Given the description of an element on the screen output the (x, y) to click on. 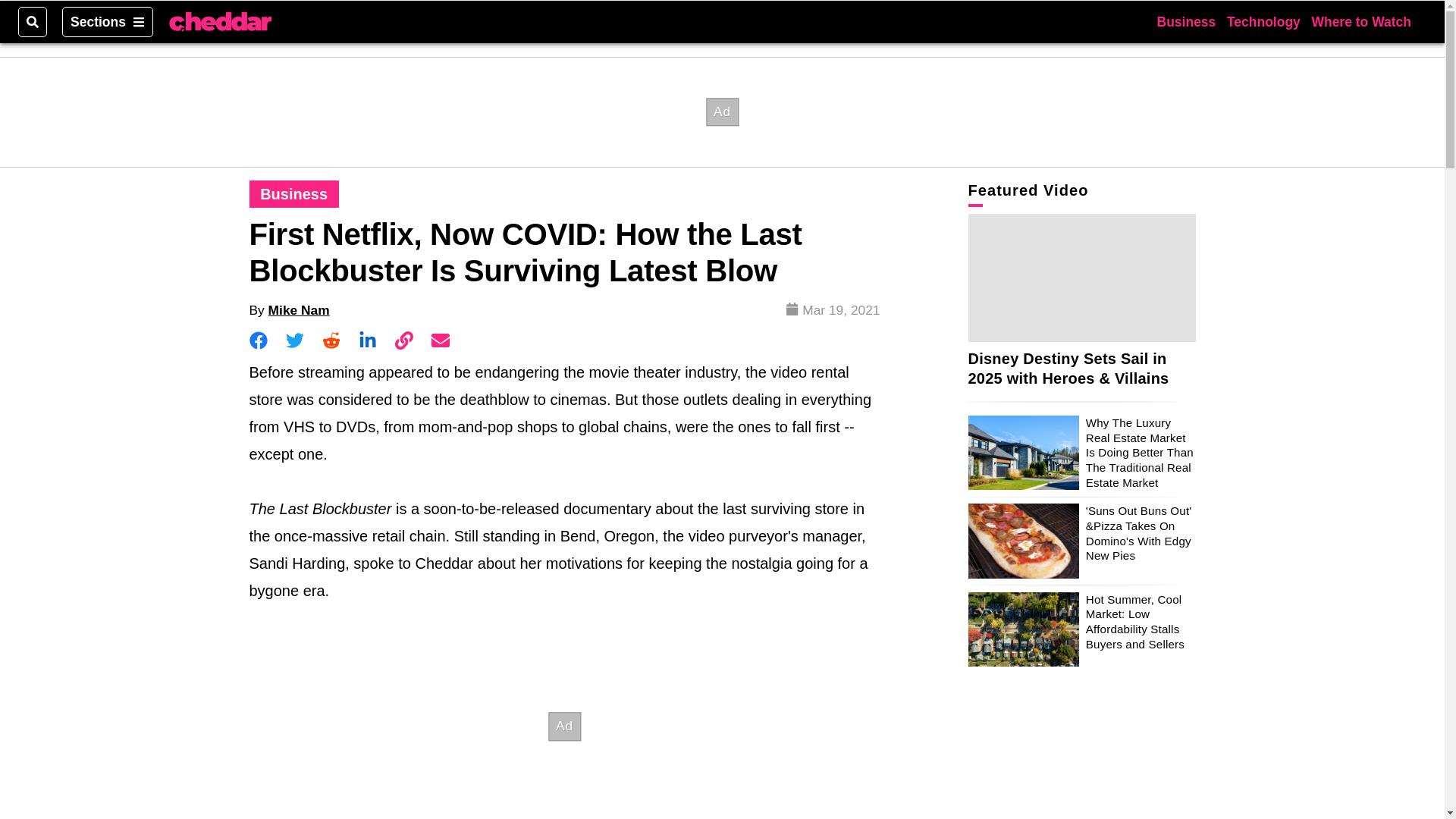
Mike Nam (298, 309)
Cheddar Logo (220, 21)
Business (293, 193)
Business (1186, 21)
Where to Watch (1360, 21)
Sections (107, 21)
Technology (1263, 21)
3rd party ad content (721, 111)
3rd party ad content (563, 725)
